Given the description of an element on the screen output the (x, y) to click on. 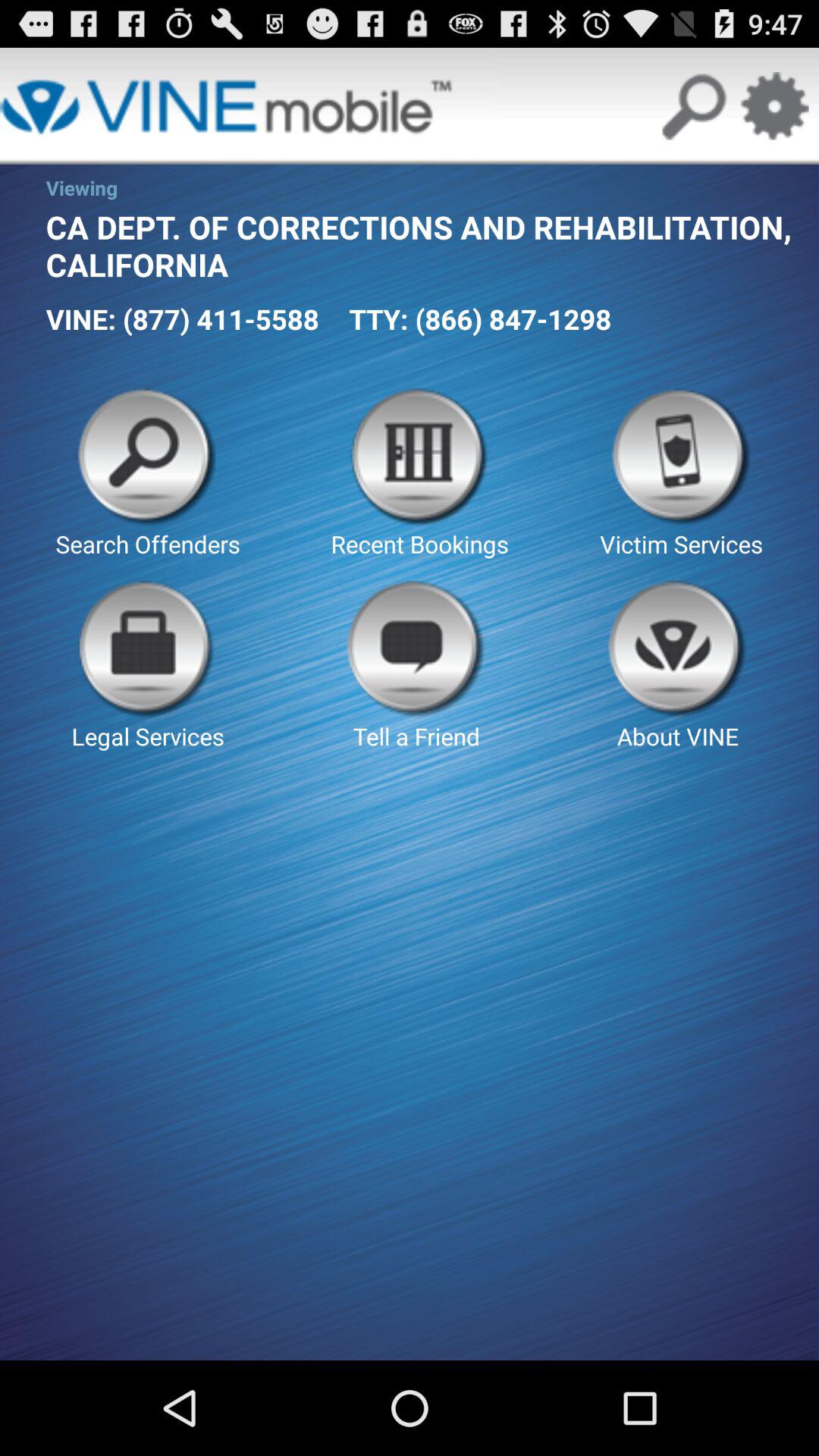
select the button above the recent bookings button (480, 318)
